Given the description of an element on the screen output the (x, y) to click on. 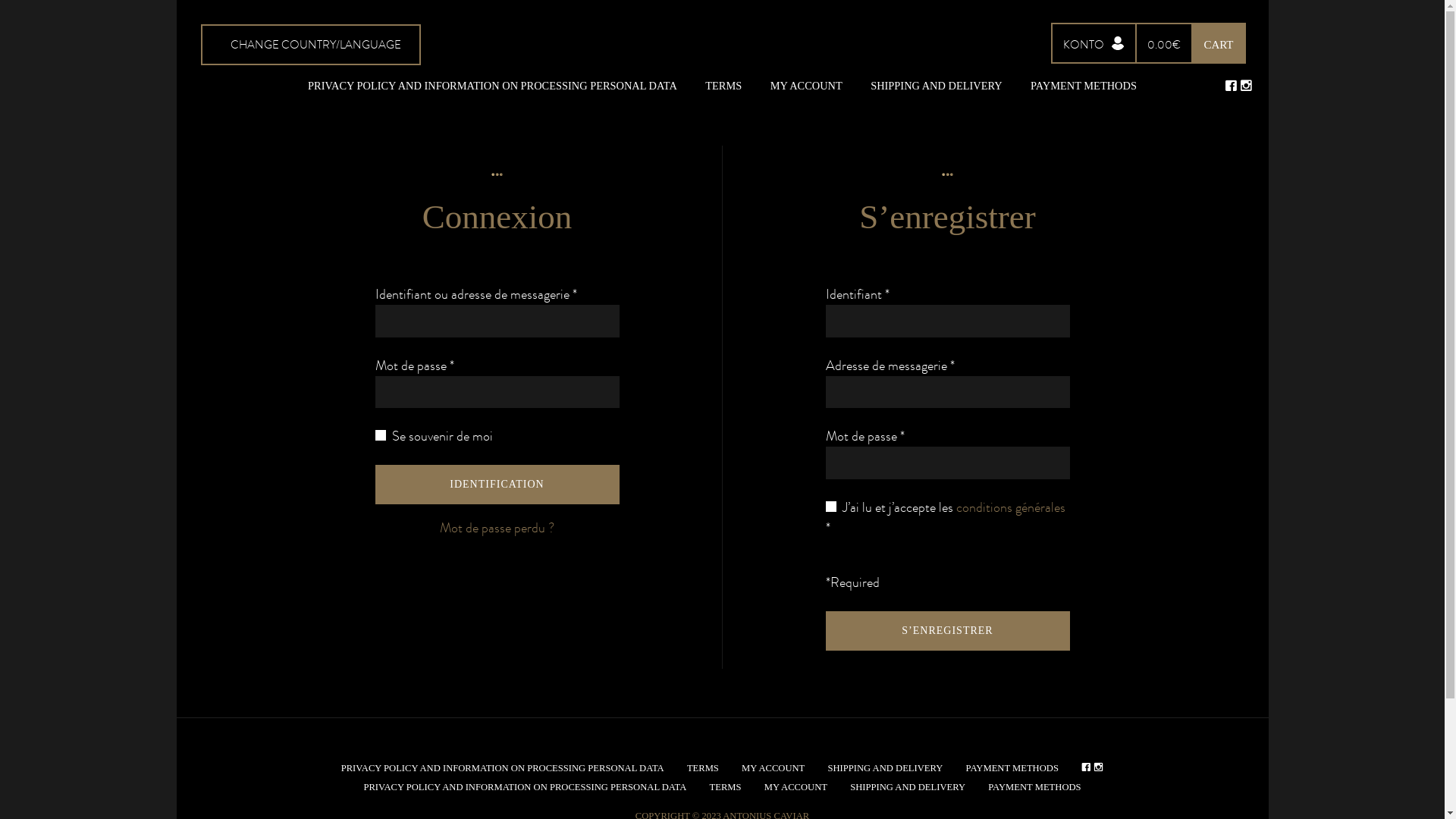
MY ACCOUNT Element type: text (772, 767)
MY ACCOUNT Element type: text (795, 786)
PAYMENT METHODS Element type: text (1034, 786)
PRIVACY POLICY AND INFORMATION ON PROCESSING PERSONAL DATA Element type: text (502, 767)
TERMS Element type: text (725, 786)
Mot de passe perdu ? Element type: text (496, 527)
MY ACCOUNT Element type: text (806, 85)
SHIPPING AND DELIVERY Element type: text (884, 767)
PAYMENT METHODS Element type: text (1083, 85)
PRIVACY POLICY AND INFORMATION ON PROCESSING PERSONAL DATA Element type: text (492, 85)
CART Element type: text (1217, 43)
KONTO Element type: text (1093, 43)
TERMS Element type: text (723, 85)
IDENTIFICATION Element type: text (496, 484)
PAYMENT METHODS Element type: text (1012, 767)
SHIPPING AND DELIVERY Element type: text (907, 786)
PRIVACY POLICY AND INFORMATION ON PROCESSING PERSONAL DATA Element type: text (524, 786)
TERMS Element type: text (702, 767)
SHIPPING AND DELIVERY Element type: text (936, 85)
